Given the description of an element on the screen output the (x, y) to click on. 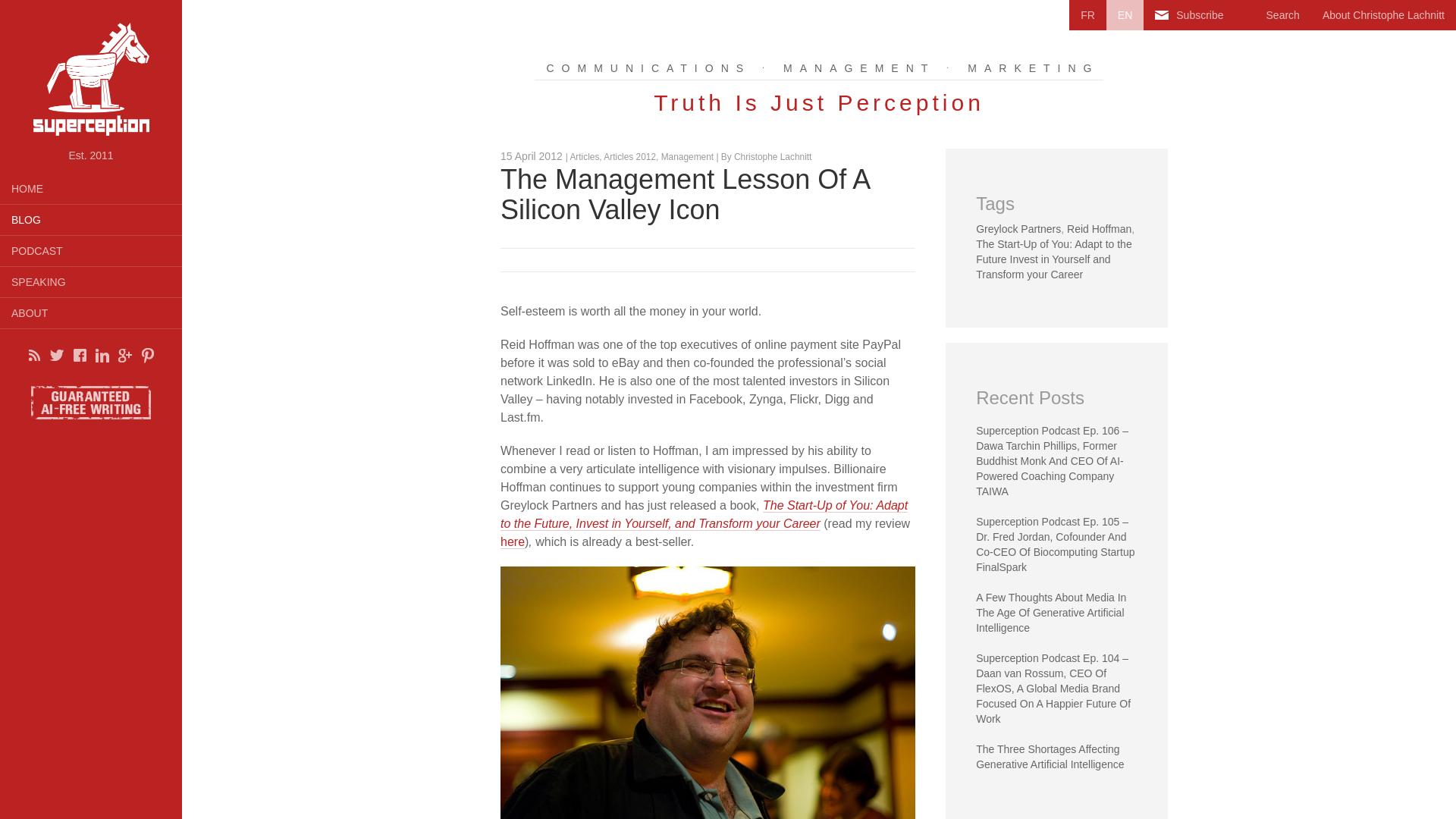
HOME (91, 187)
Twitter (56, 354)
English (1125, 14)
LinkedIn (102, 354)
PINTEREST (147, 354)
BLOG (91, 219)
FACEBOOK (79, 354)
ABOUT (91, 312)
SPEAKING (91, 281)
PODCAST (91, 250)
